Given the description of an element on the screen output the (x, y) to click on. 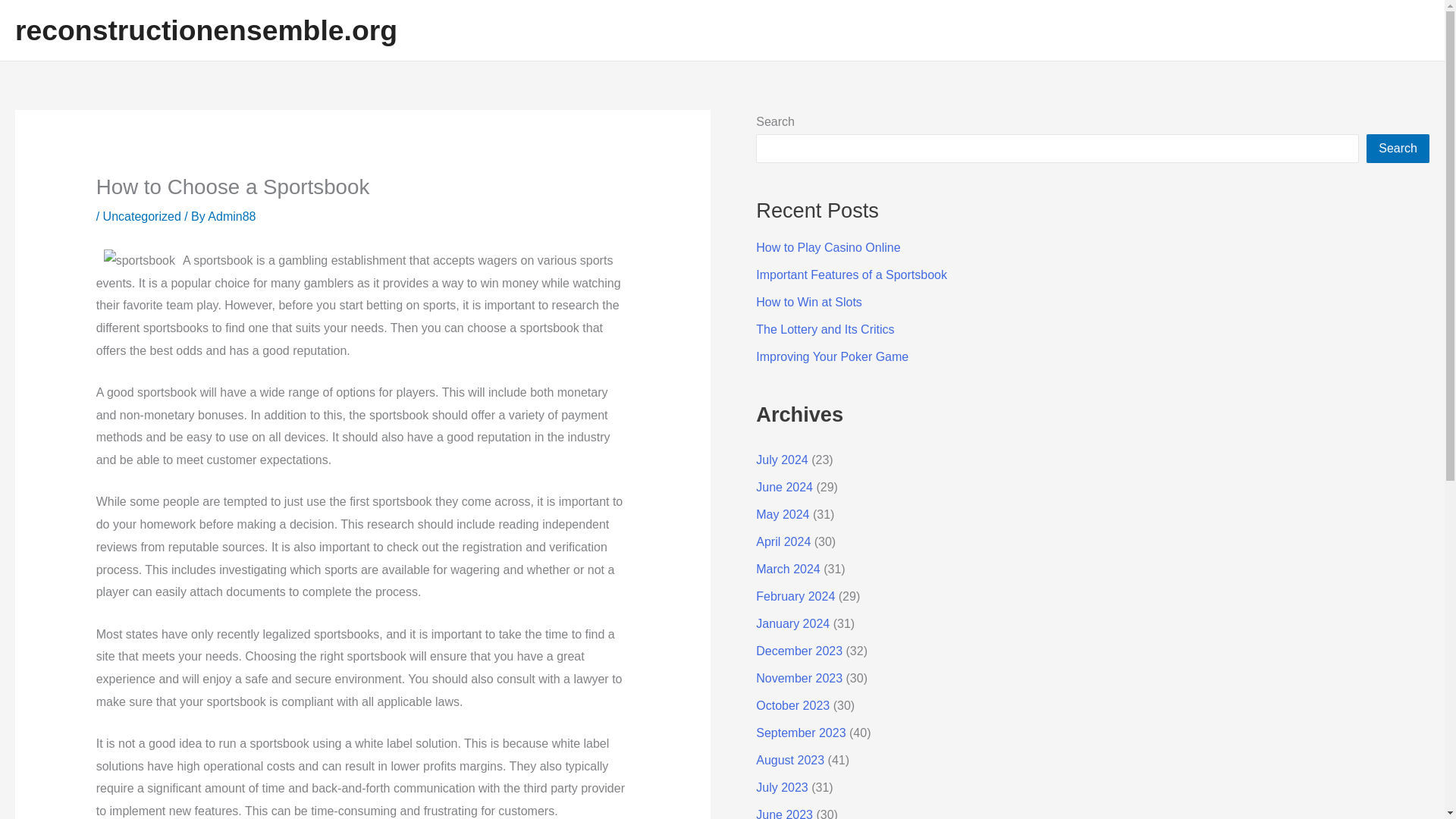
January 2024 (792, 623)
December 2023 (799, 650)
June 2024 (783, 486)
reconstructionensemble.org (205, 29)
March 2024 (788, 568)
View all posts by Admin88 (232, 215)
November 2023 (799, 677)
Important Features of a Sportsbook (851, 274)
June 2023 (783, 813)
October 2023 (792, 705)
The Lottery and Its Critics (824, 328)
Admin88 (232, 215)
Improving Your Poker Game (831, 356)
Uncategorized (141, 215)
Search (1398, 148)
